Given the description of an element on the screen output the (x, y) to click on. 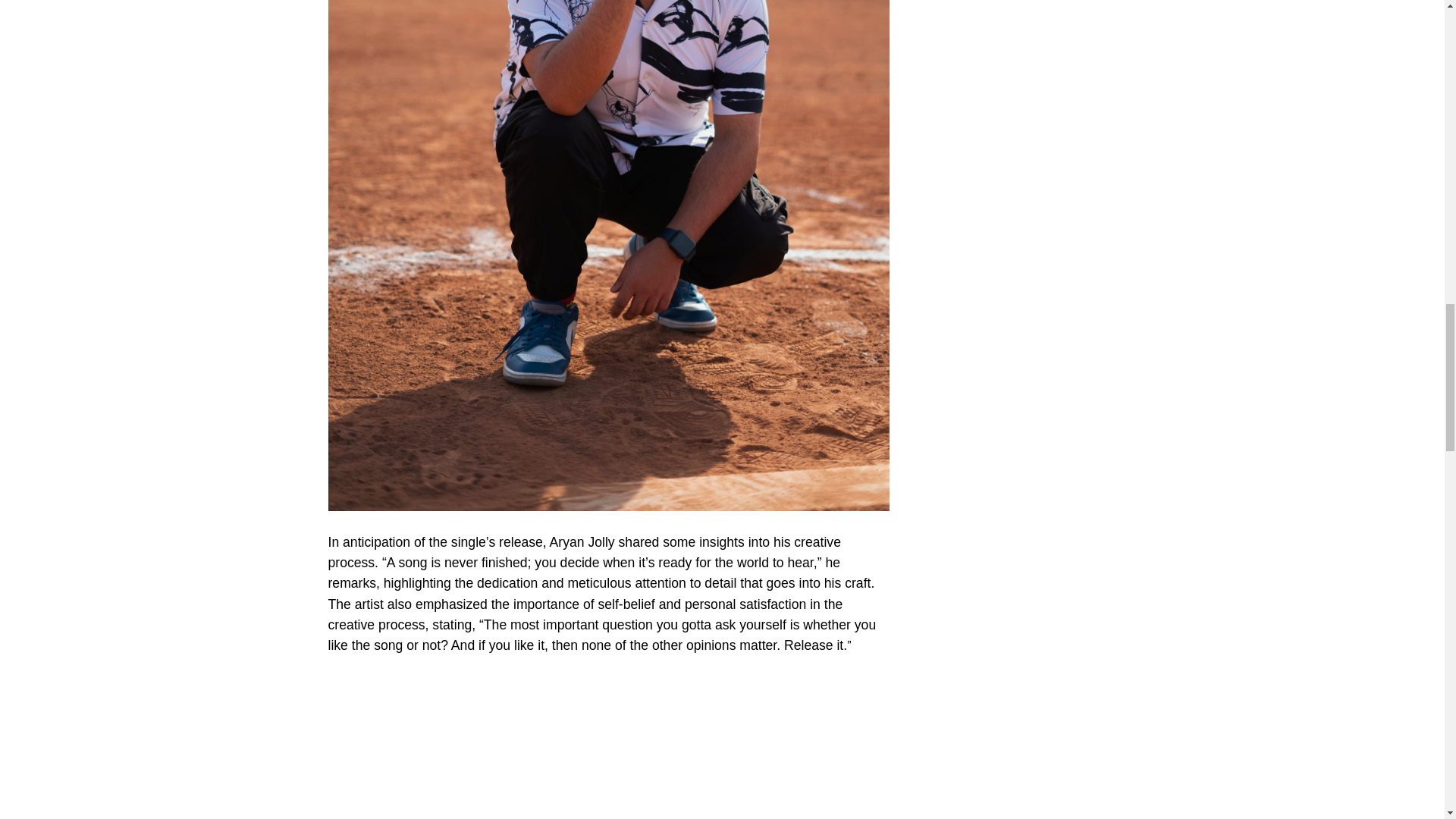
Spotify Embed: Slowly (607, 744)
